Given the description of an element on the screen output the (x, y) to click on. 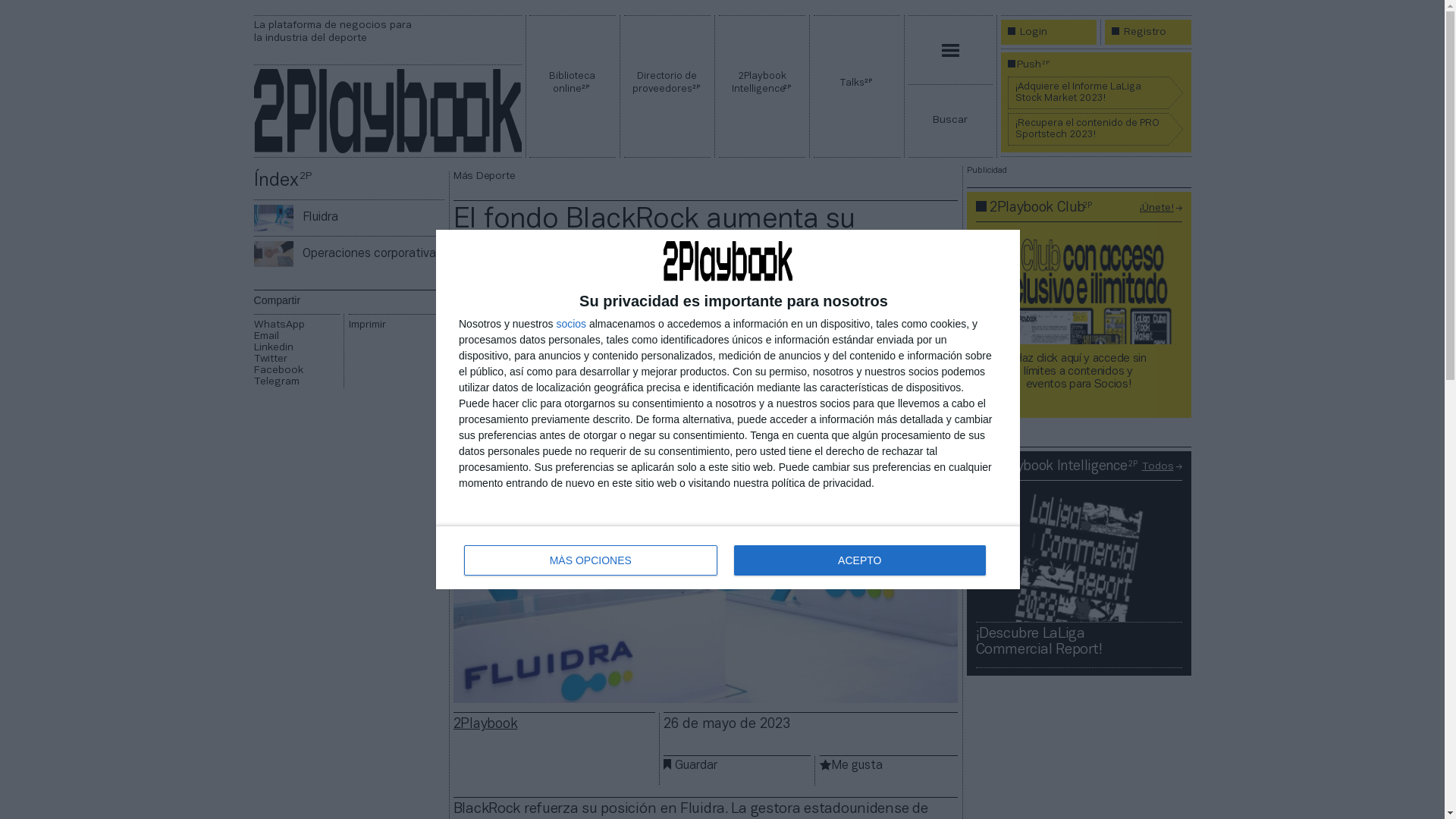
01 mailing Element type: hover (1078, 319)
2Playbook Intelligence2P Element type: text (761, 86)
2Playbook Element type: hover (386, 111)
2Playbook Element type: text (485, 724)
Login Element type: text (1031, 32)
Widget laliga commercial report 2023 Element type: hover (1078, 555)
Fluidra Element type: text (320, 217)
Telegram Element type: text (296, 381)
Linkedin Element type: text (296, 347)
Fluidra Element type: hover (273, 217)
socios Element type: text (570, 323)
WhatsApp Element type: text (296, 324)
Directorio de proveedores 2P Element type: text (667, 86)
Email Element type: text (296, 336)
fluidra corporativo Element type: hover (273, 219)
Talks 2P Element type: text (856, 86)
Registro Element type: text (1143, 32)
Twitter Element type: text (296, 358)
Facebook Element type: text (296, 370)
Me gusta Element type: text (856, 765)
Guardar Element type: text (695, 765)
fluidra corporativo Element type: hover (705, 566)
Biblioteca
online 2P Element type: text (572, 86)
Operaciones corporativas Element type: hover (273, 254)
Todos Element type: text (1157, 466)
Operaciones corporativas Element type: text (372, 253)
2Playbook Club Element type: text (1037, 207)
ACEPTO Element type: text (859, 560)
Imprimir Element type: text (395, 324)
